Given the description of an element on the screen output the (x, y) to click on. 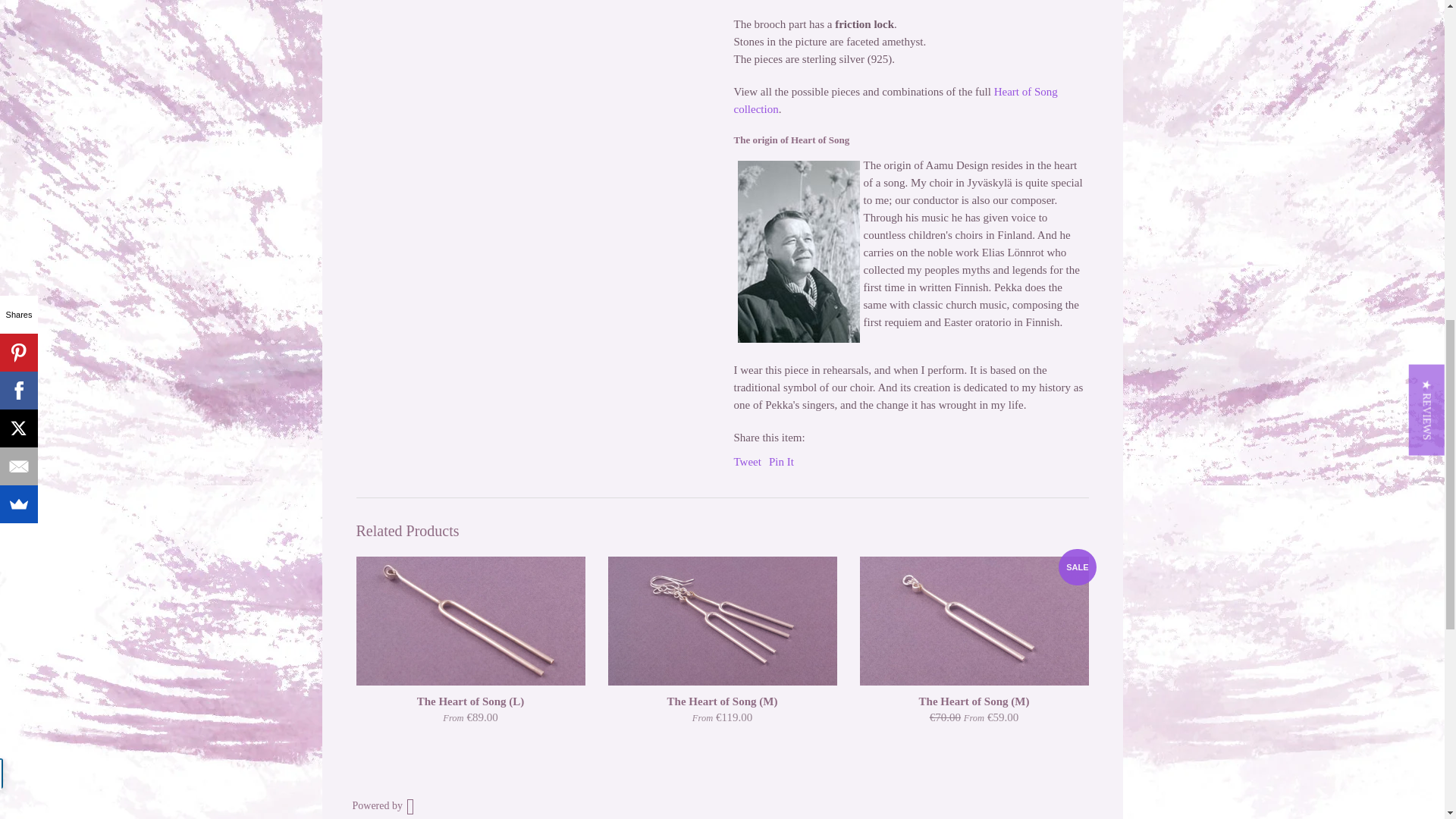
The Heart of Song Collection (895, 99)
